Given the description of an element on the screen output the (x, y) to click on. 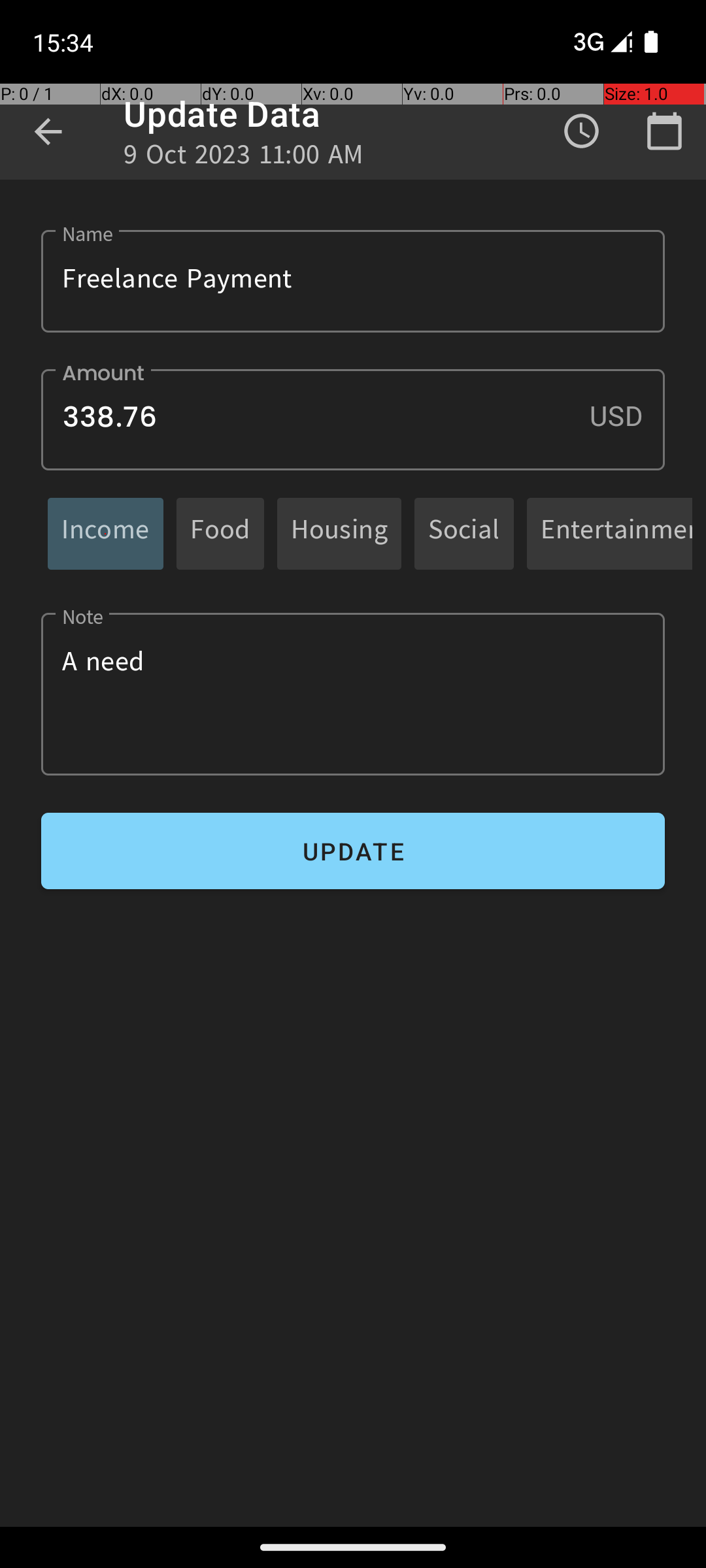
9 Oct 2023 11:00 AM Element type: android.widget.TextView (243, 157)
338.76 Element type: android.widget.EditText (352, 419)
